Given the description of an element on the screen output the (x, y) to click on. 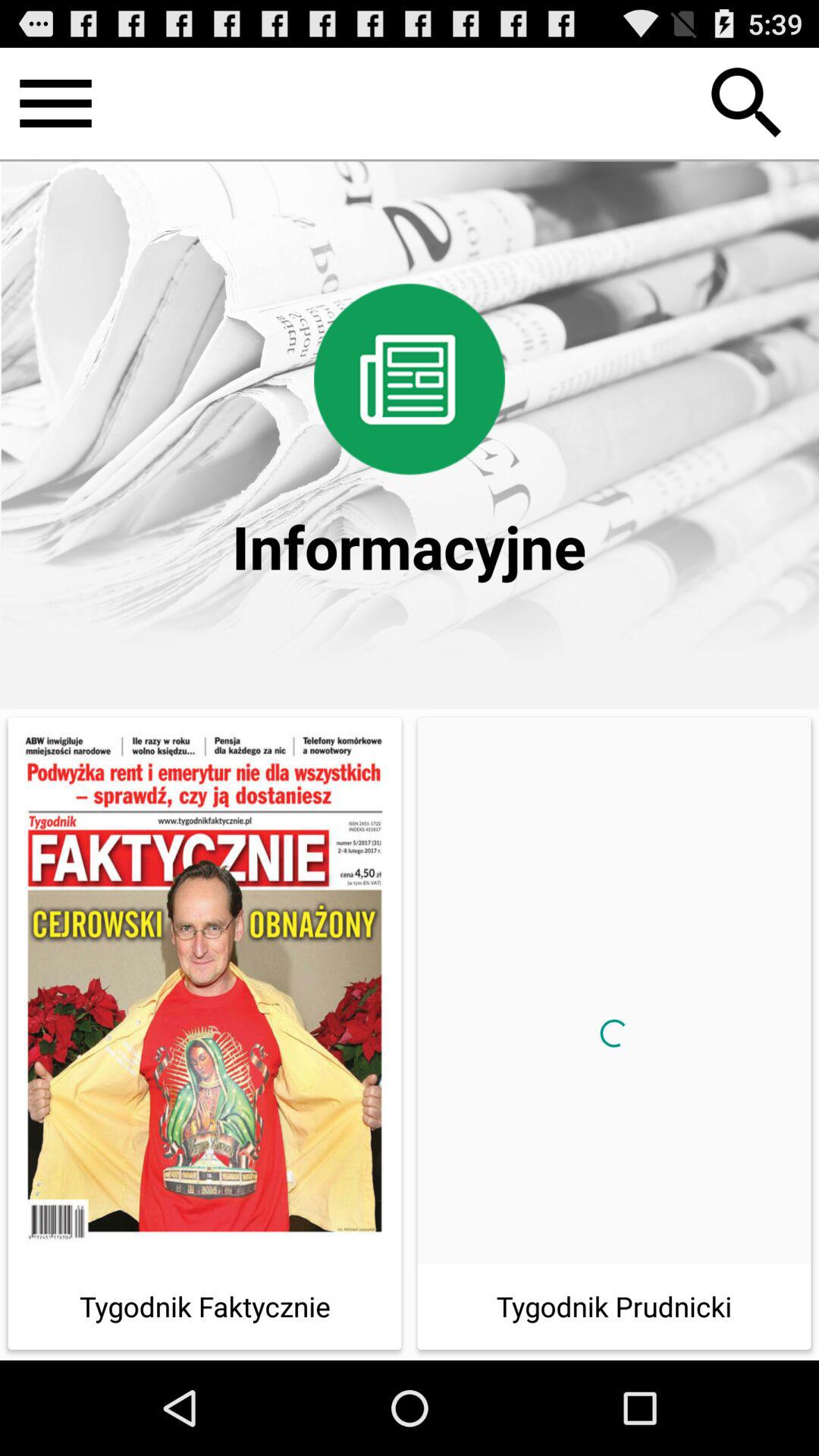
this is a menu icon of the app (55, 103)
